Given the description of an element on the screen output the (x, y) to click on. 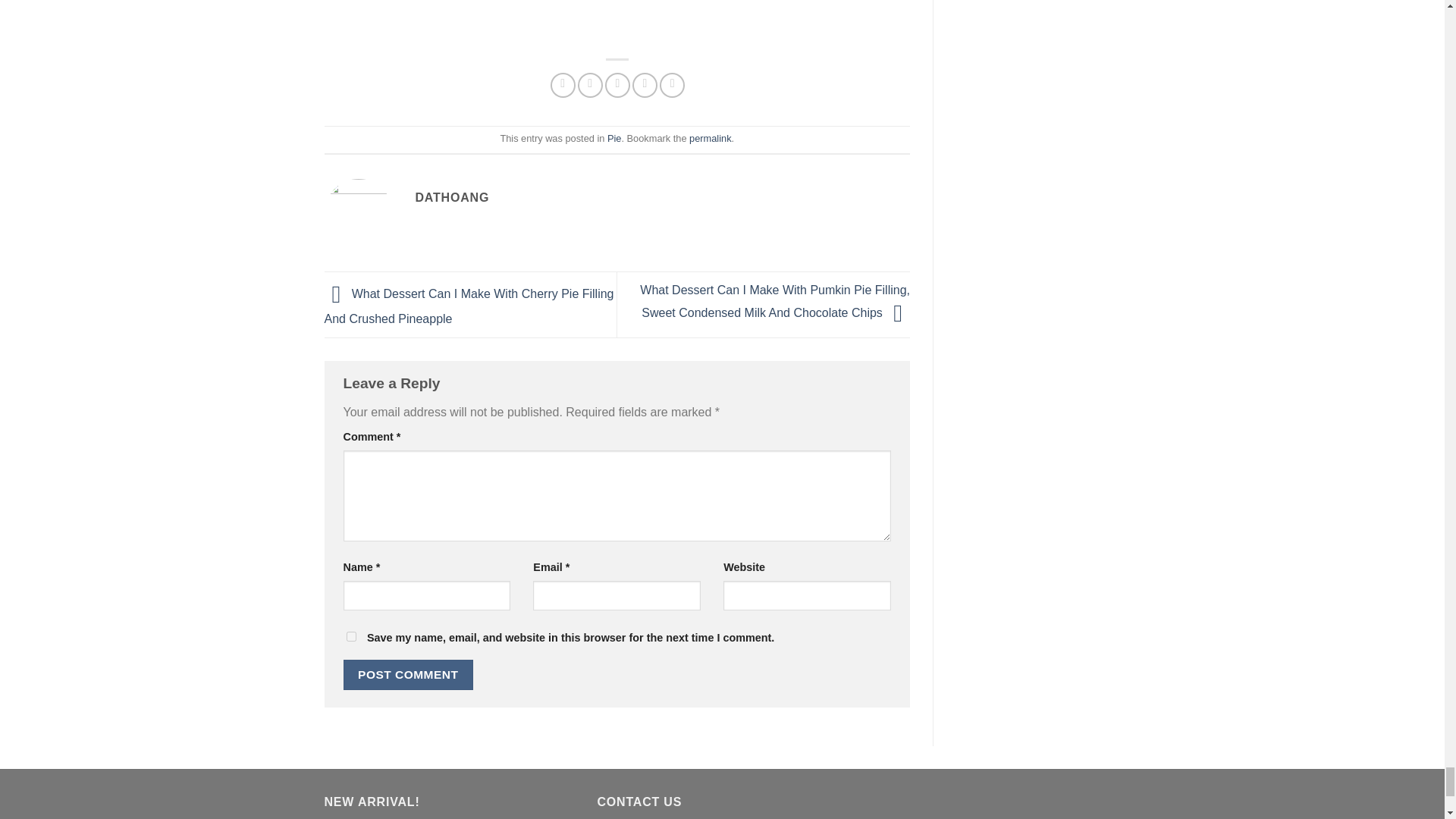
Pie (614, 138)
Email to a Friend (617, 84)
Share on Facebook (562, 84)
Post Comment (407, 674)
yes (350, 636)
Post Comment (407, 674)
Share on Twitter (590, 84)
permalink (709, 138)
